Given the description of an element on the screen output the (x, y) to click on. 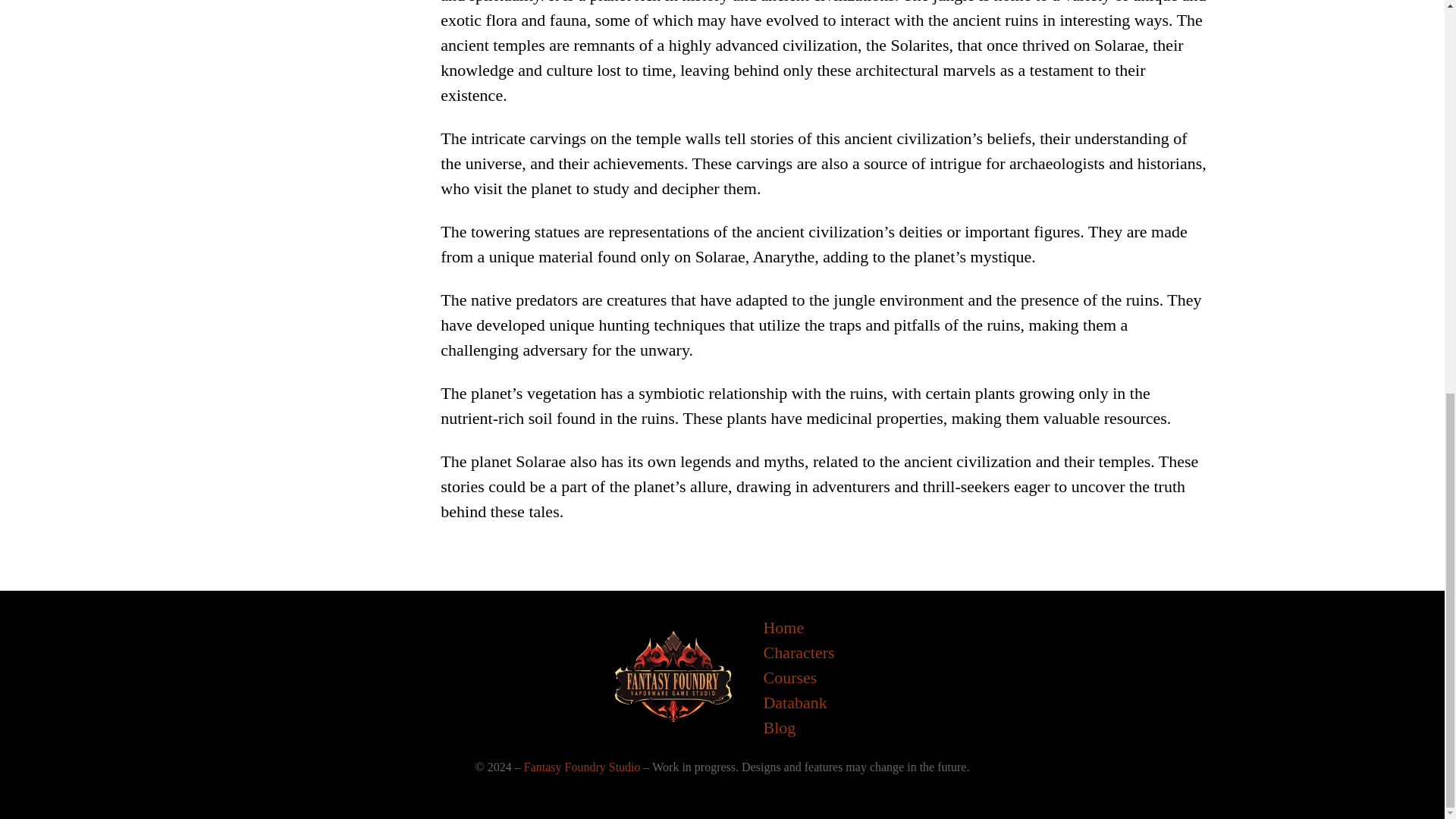
Characters (798, 652)
Fantasy Foundry Studio (582, 766)
Databank (794, 702)
Courses (789, 677)
Home (782, 627)
Blog (778, 727)
